Given the description of an element on the screen output the (x, y) to click on. 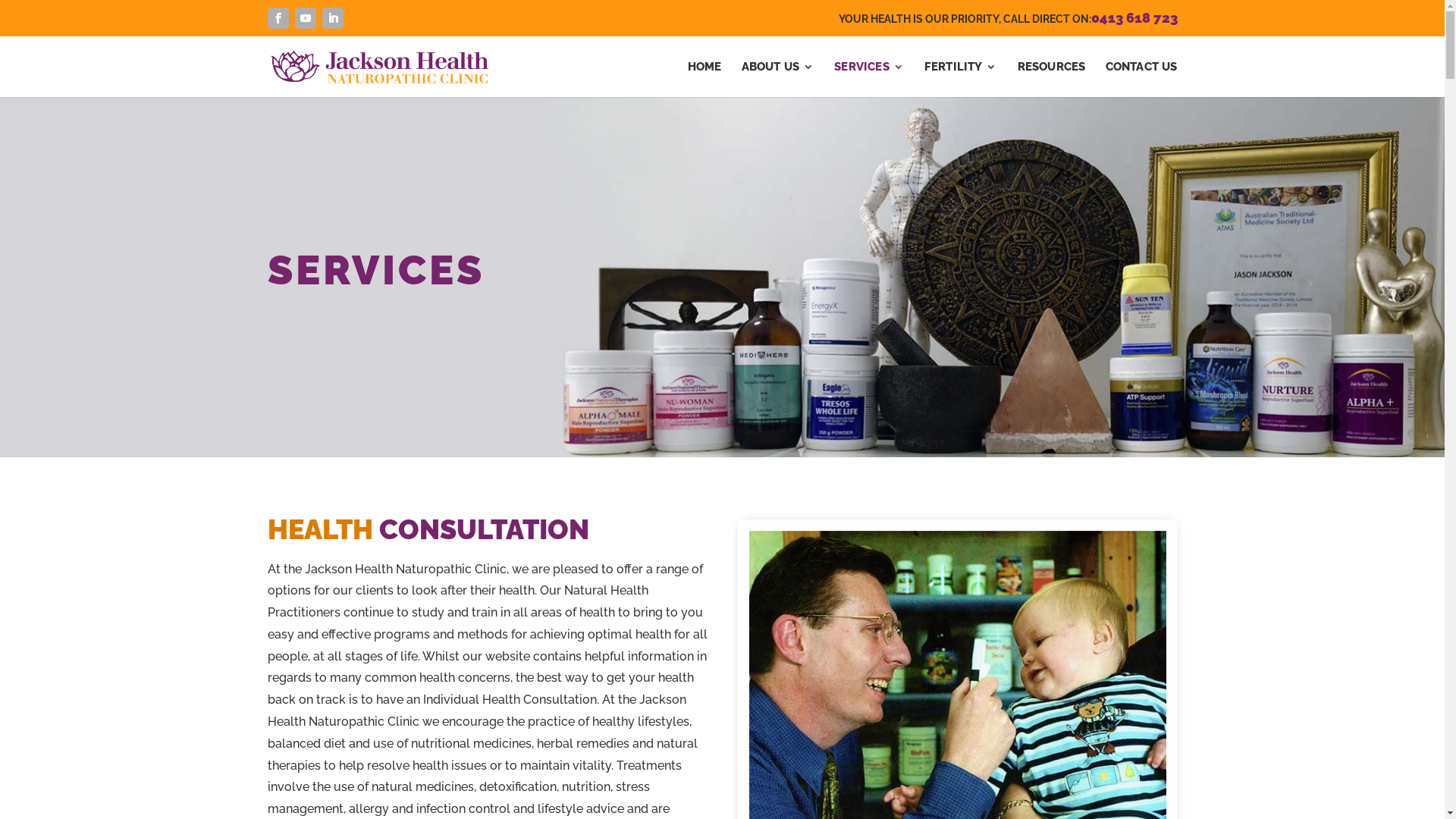
SERVICES Element type: text (869, 79)
FERTILITY Element type: text (960, 79)
ABOUT US Element type: text (778, 79)
Follow on Youtube Element type: hover (304, 17)
Follow on Facebook Element type: hover (277, 17)
CONTACT US Element type: text (1141, 79)
HOME Element type: text (704, 79)
Follow on LinkedIn Element type: hover (331, 17)
0413 618 723 Element type: text (1133, 18)
RESOURCES Element type: text (1051, 79)
